Given the description of an element on the screen output the (x, y) to click on. 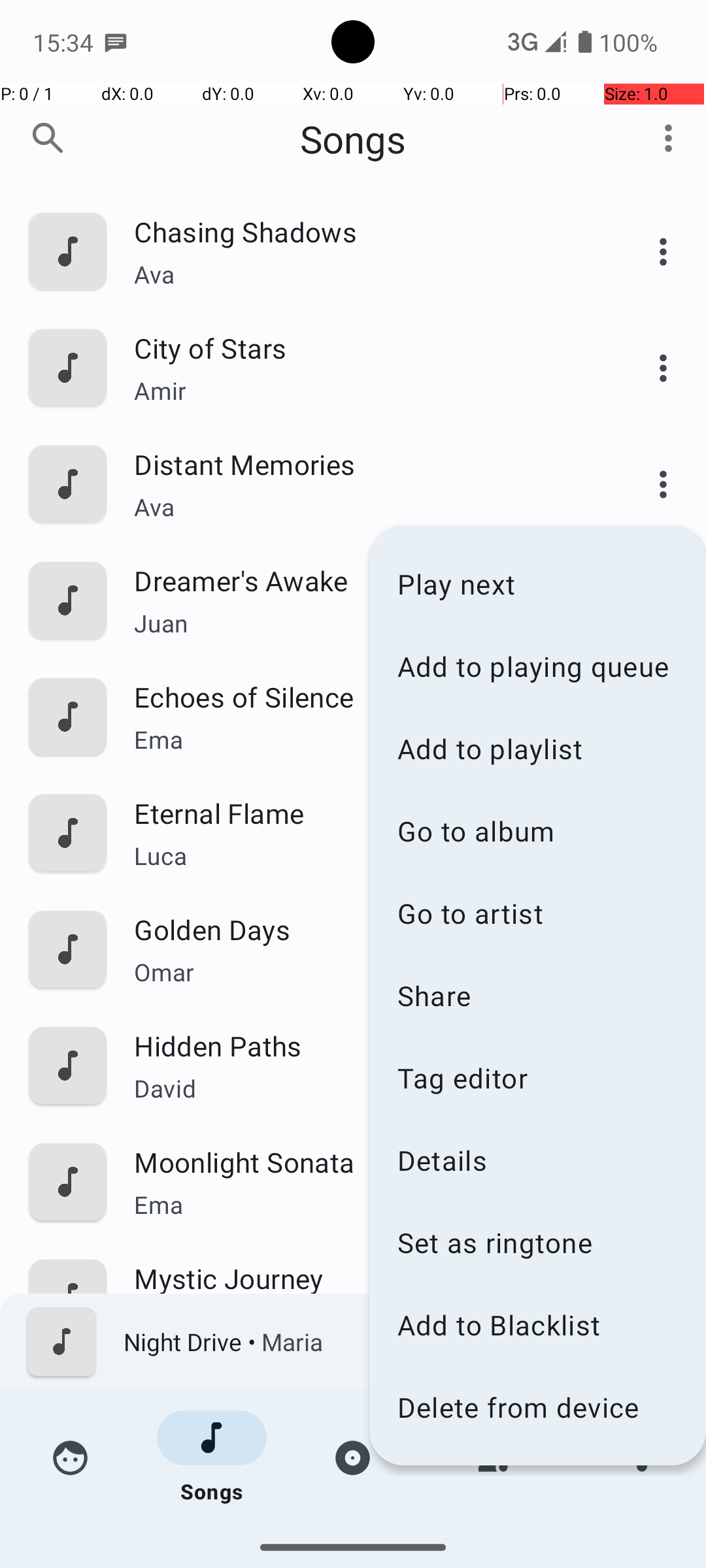
Play next Element type: android.widget.TextView (537, 583)
Add to playing queue Element type: android.widget.TextView (537, 665)
Add to playlist Element type: android.widget.TextView (537, 748)
Go to album Element type: android.widget.TextView (537, 830)
Go to artist Element type: android.widget.TextView (537, 912)
Tag editor Element type: android.widget.TextView (537, 1077)
Details Element type: android.widget.TextView (537, 1159)
Set as ringtone Element type: android.widget.TextView (537, 1241)
Add to Blacklist Element type: android.widget.TextView (537, 1324)
Delete from device Element type: android.widget.TextView (537, 1406)
